Given the description of an element on the screen output the (x, y) to click on. 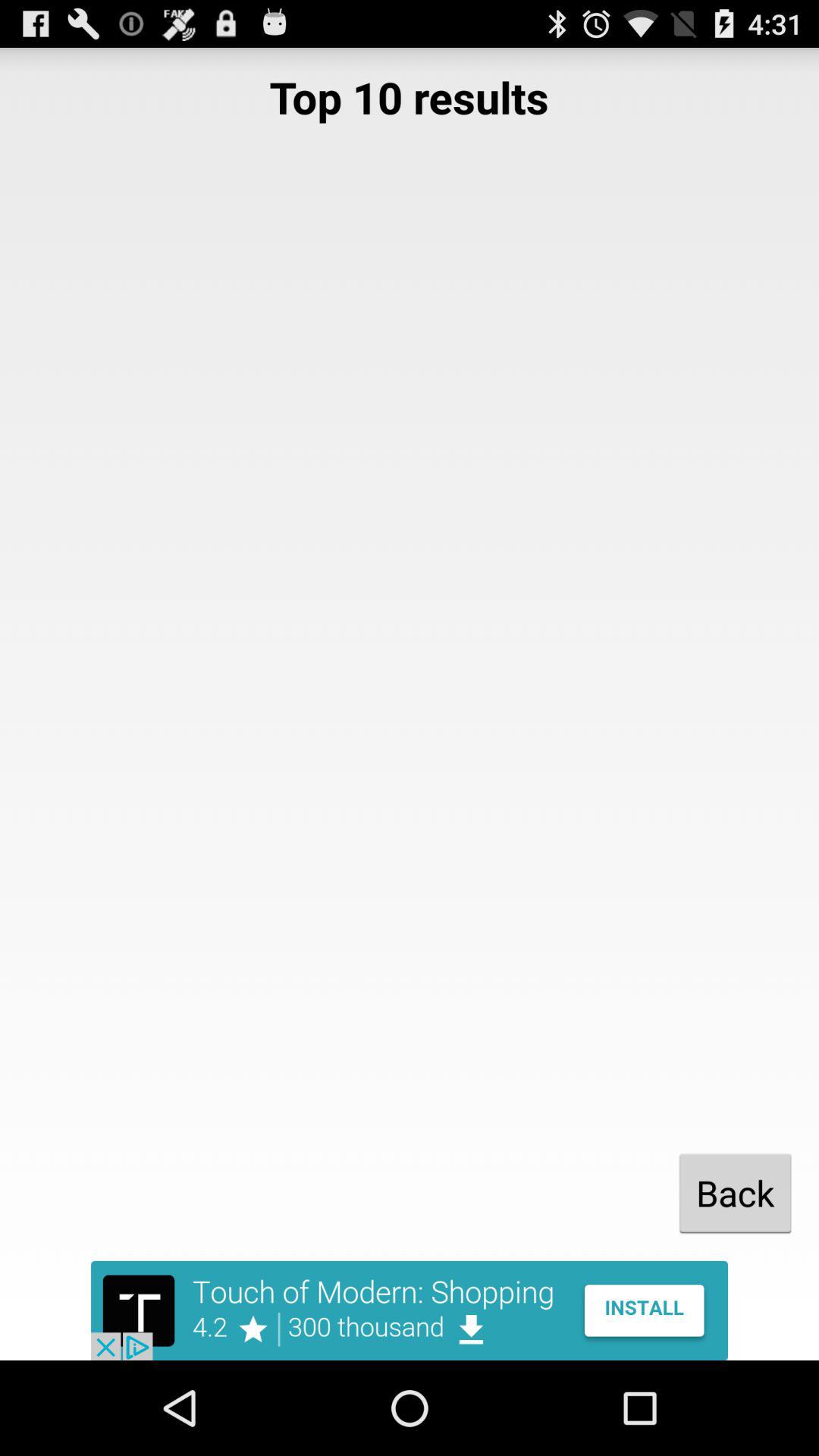
go to advertisement (409, 1310)
